Given the description of an element on the screen output the (x, y) to click on. 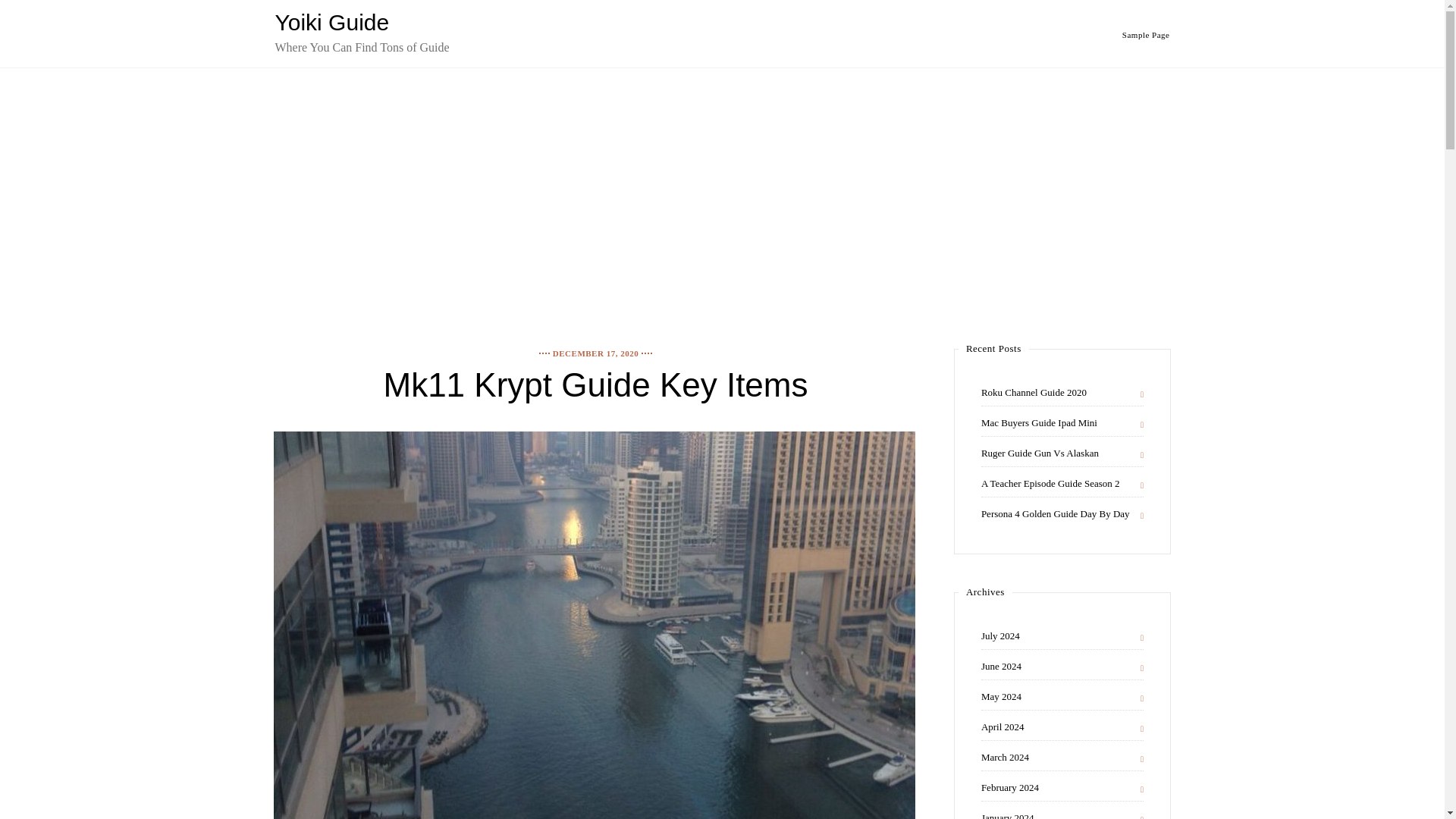
Sample Page (1146, 34)
Yoiki Guide (331, 22)
